Given the description of an element on the screen output the (x, y) to click on. 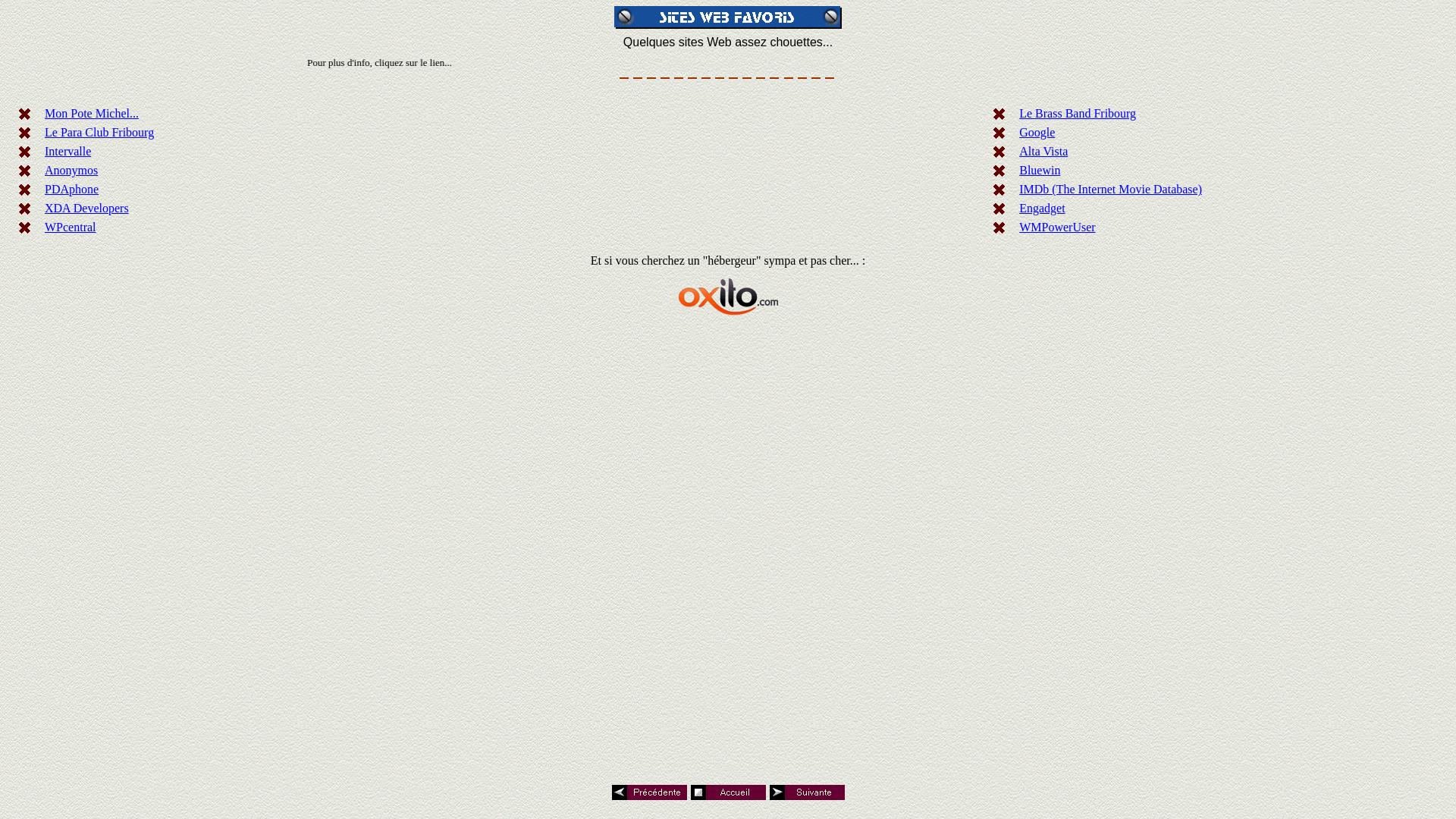
IMDb (The Internet Movie Database) Element type: text (1110, 188)
PDAphone Element type: text (71, 188)
Le Brass Band Fribourg Element type: text (1077, 112)
Alta Vista Element type: text (1043, 150)
WMPowerUser Element type: text (1057, 226)
Google Element type: text (1036, 131)
XDA Developers Element type: text (86, 207)
Anonymos Element type: text (70, 169)
Mon Pote Michel... Element type: text (91, 112)
Bluewin Element type: text (1039, 169)
WPcentral Element type: text (70, 226)
Le Para Club Fribourg Element type: text (98, 131)
Engadget Element type: text (1041, 207)
Intervalle Element type: text (67, 150)
